Given the description of an element on the screen output the (x, y) to click on. 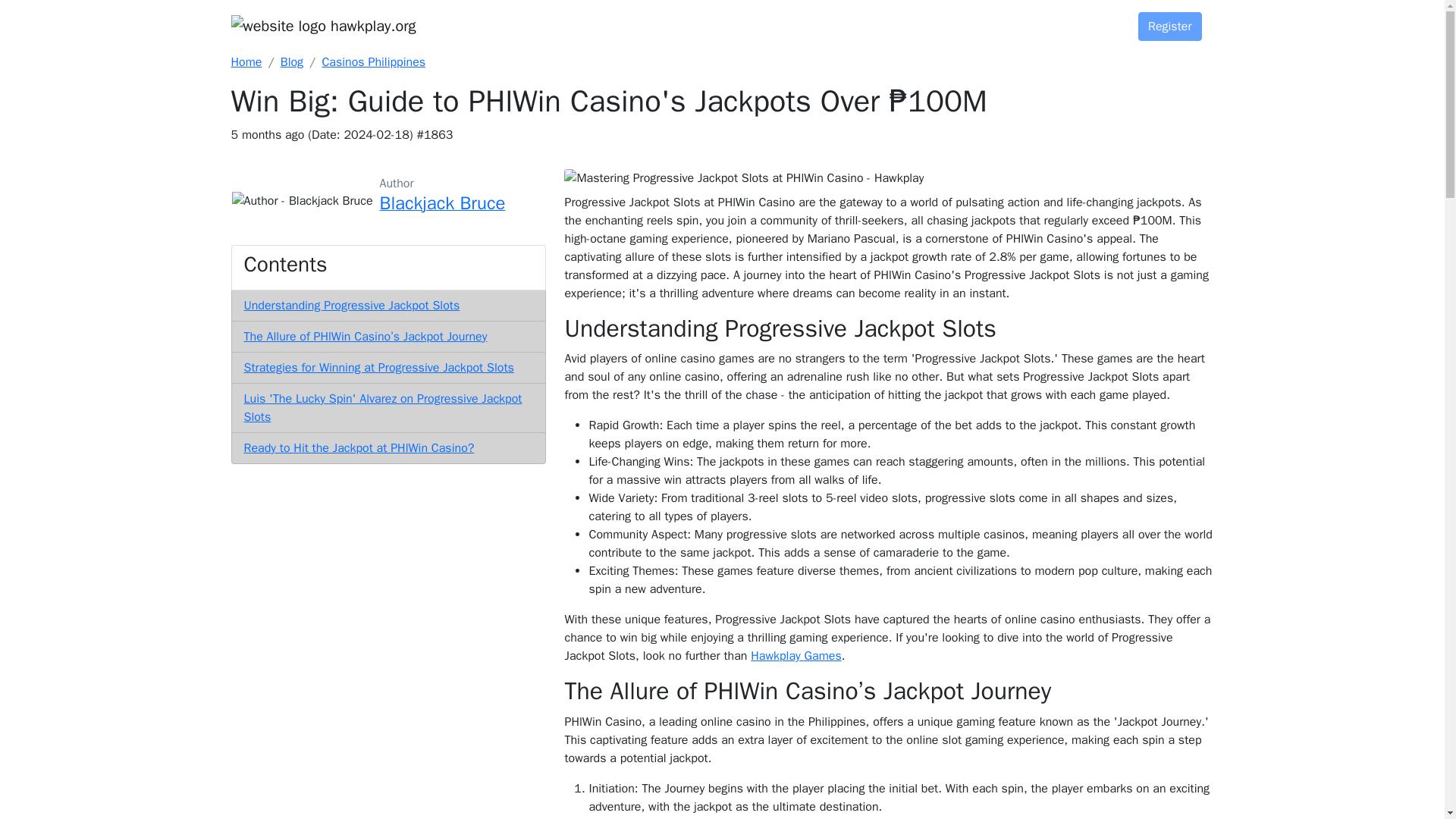
Articles (847, 20)
Ready to Hit the Jackpot at PHlWin Casino? (359, 447)
Register (1170, 25)
Ready to Hit the Jackpot at PHlWin Casino? (359, 447)
Hawkplay Games (796, 655)
Topics (908, 20)
Casinos (1018, 20)
Blog (291, 61)
Strategies for Winning at Progressive Jackpot Slots (378, 367)
Blackjack Bruce (442, 205)
Hawkplay Blog - casinos philippines (373, 61)
Games (784, 20)
Hawkplay (246, 61)
Login (1088, 20)
Hawkplay Blog (291, 61)
